Given the description of an element on the screen output the (x, y) to click on. 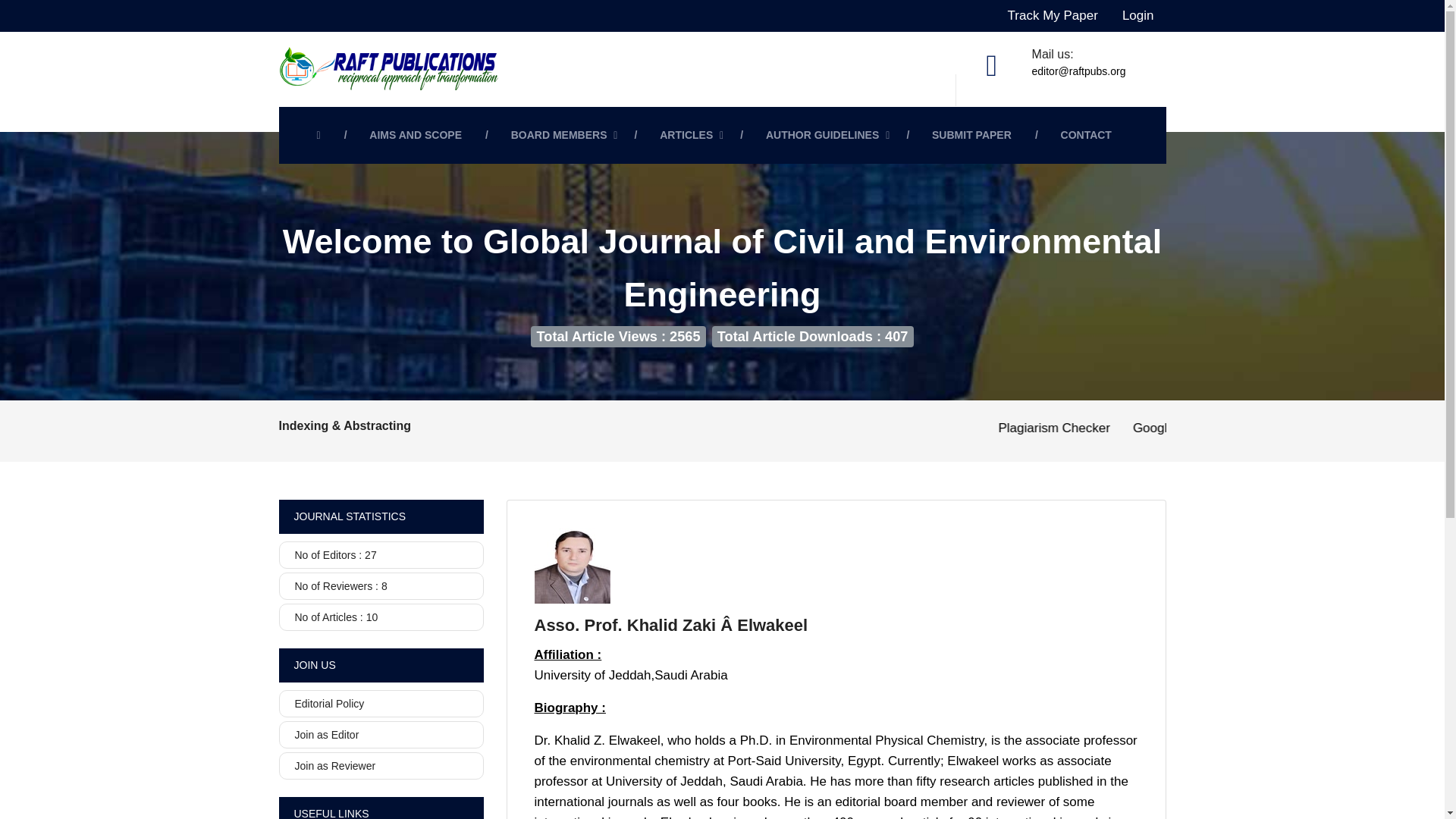
CONTACT (1090, 135)
Join as Editor (381, 734)
Track My Paper (1052, 15)
AIMS AND SCOPE (418, 135)
Join as Reviewer (381, 765)
No of Articles : 10 (381, 616)
AUTHOR GUIDELINES (827, 135)
No of Editors : 27 (381, 554)
SUBMIT PAPER (975, 135)
BOARD MEMBERS (564, 135)
No of Reviewers : 8 (381, 585)
Editorial Policy (381, 703)
ARTICLES (691, 135)
Login (1137, 15)
